Given the description of an element on the screen output the (x, y) to click on. 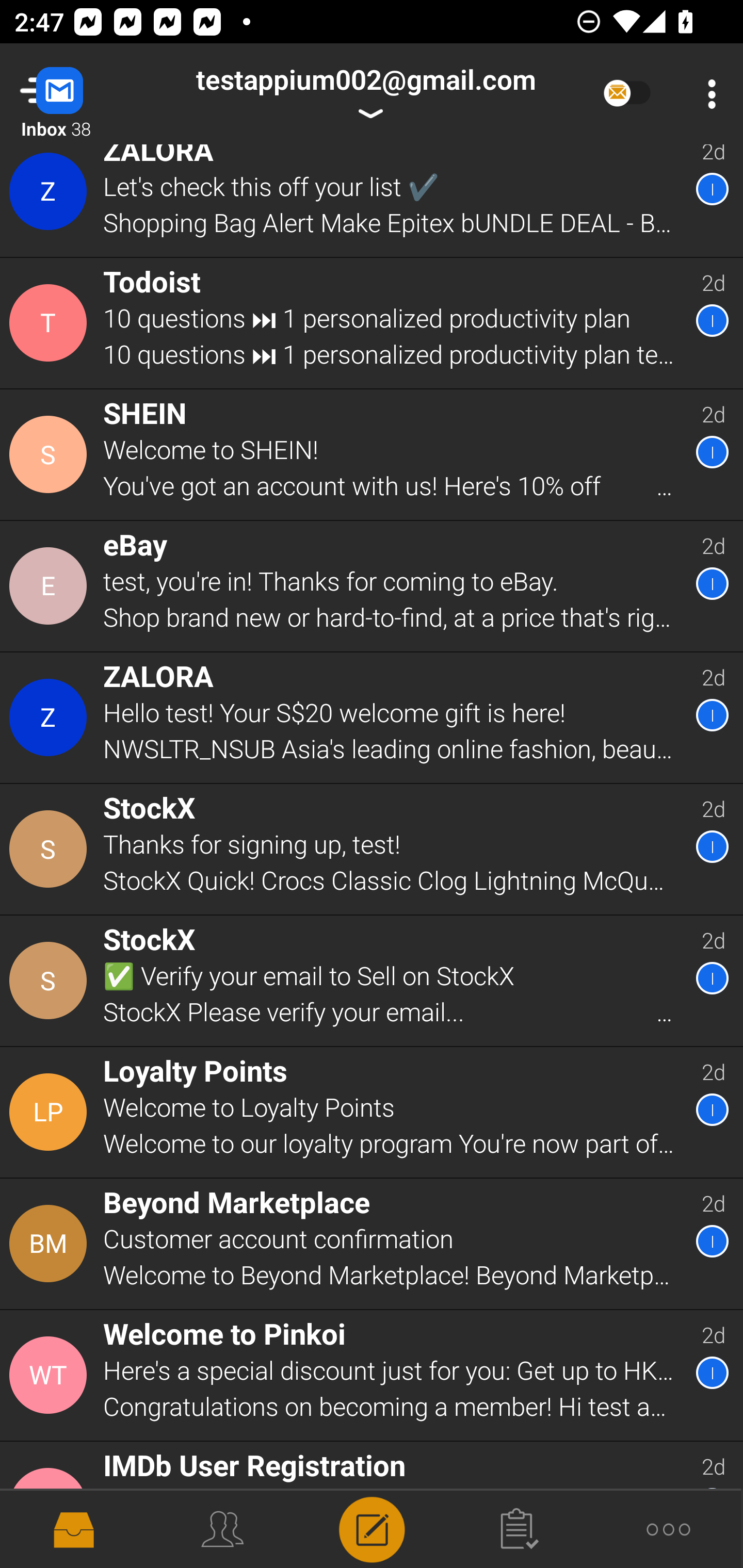
Navigate up (81, 93)
testappium002@gmail.com (365, 93)
More Options (706, 93)
Contact Details (50, 200)
Contact Details (50, 322)
Contact Details (50, 454)
Contact Details (50, 585)
Contact Details (50, 717)
Contact Details (50, 849)
Contact Details (50, 980)
Contact Details (50, 1112)
Contact Details (50, 1244)
Contact Details (50, 1375)
